Given the description of an element on the screen output the (x, y) to click on. 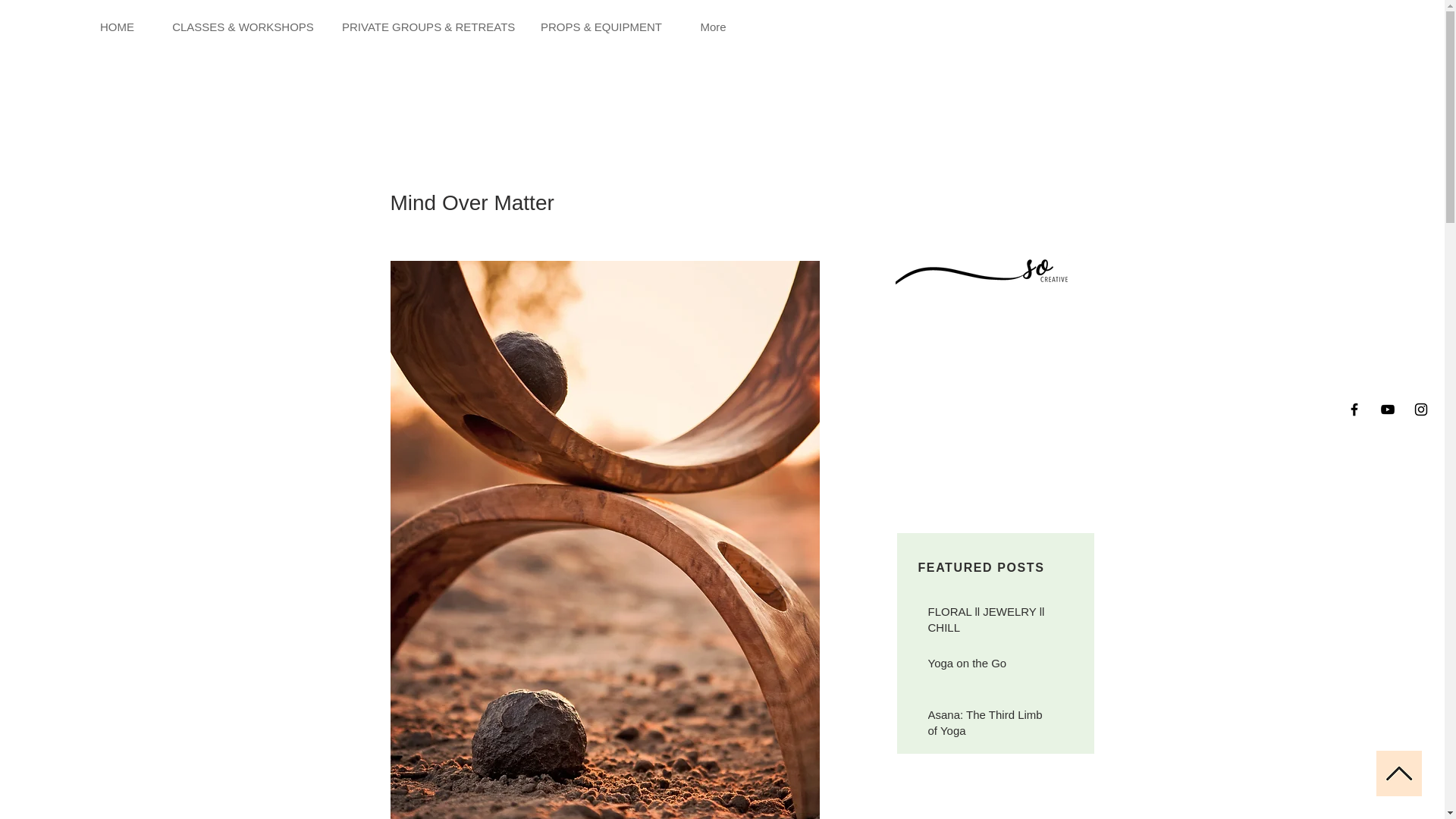
Asana: The Third Limb of Yoga (987, 725)
Yoga on the Go (987, 666)
HOME (116, 27)
FLORAL ll JEWELRY ll CHILL (987, 622)
